Given the description of an element on the screen output the (x, y) to click on. 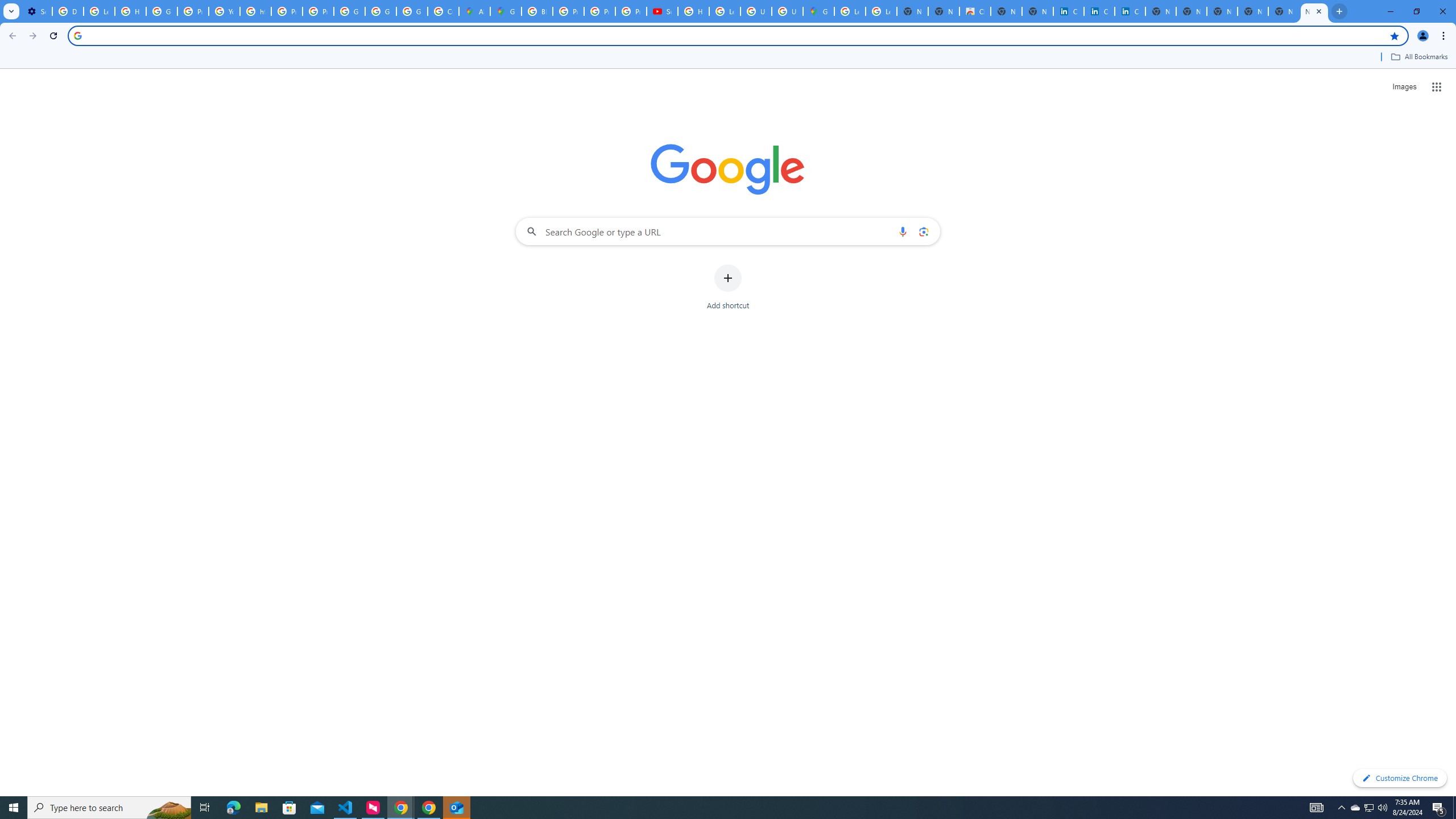
Settings - Customize profile (36, 11)
Bookmarks (728, 58)
Subscriptions - YouTube (662, 11)
Chrome Web Store (974, 11)
Search Google or type a URL (727, 230)
Privacy Help Center - Policies Help (192, 11)
Customize Chrome (1399, 778)
